Given the description of an element on the screen output the (x, y) to click on. 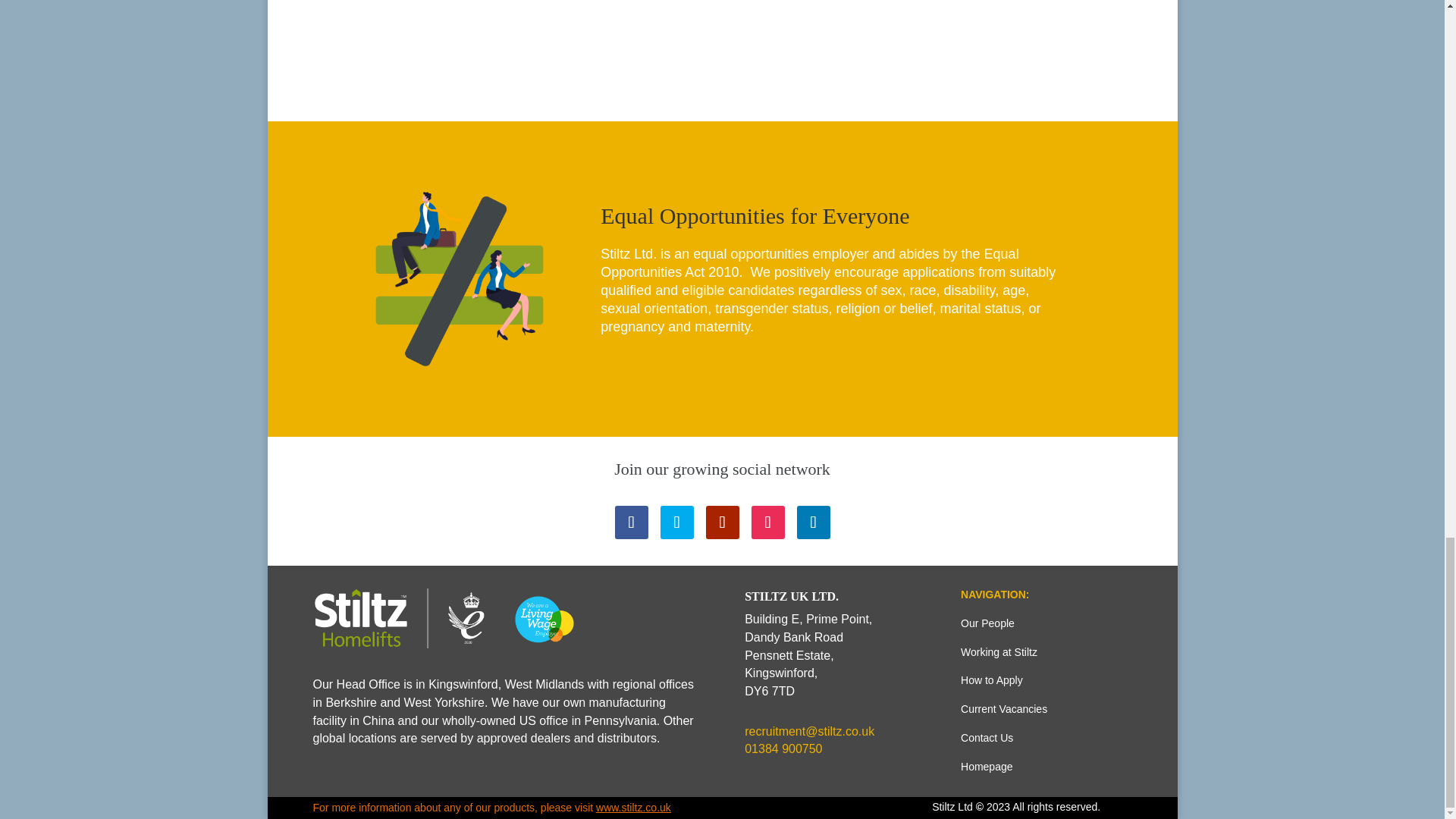
Current Vacancies (1003, 708)
Follow on Twitter (676, 522)
How to Apply (991, 680)
equality (459, 278)
Our People (987, 623)
Follow on Facebook (630, 522)
Introducing Darryl Cope: UK Consumer Operations Director (721, 50)
livingwage-stiltzpeople (446, 619)
Contact Us (986, 737)
Follow on Youtube (721, 522)
